Given the description of an element on the screen output the (x, y) to click on. 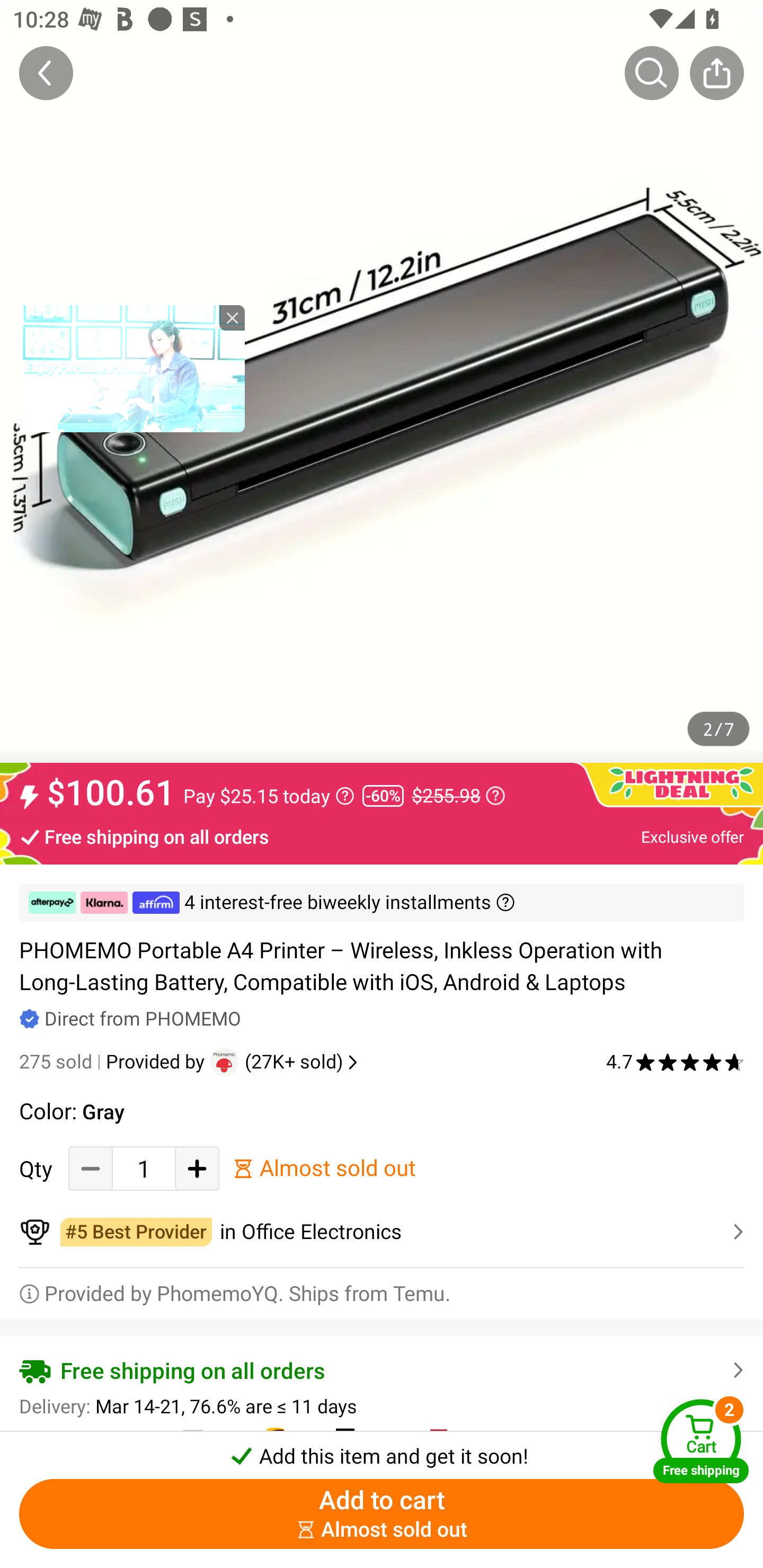
Back (46, 72)
Share (716, 72)
tronplayer_view (131, 368)
Pay $25.15 today   (268, 795)
Free shipping on all orders Exclusive offer (381, 836)
￼ ￼ ￼ 4 interest-free biweekly installments ￼ (381, 902)
4.7 (674, 1061)
Decrease Quantity Button (90, 1168)
1 (143, 1168)
Add Quantity button (196, 1168)
￼￼in Office Electronics (381, 1231)
Cart Free shipping Cart (701, 1440)
￼￼Add this item and get it soon!  (381, 1450)
Add to cart ￼￼Almost sold out (381, 1513)
